Given the description of an element on the screen output the (x, y) to click on. 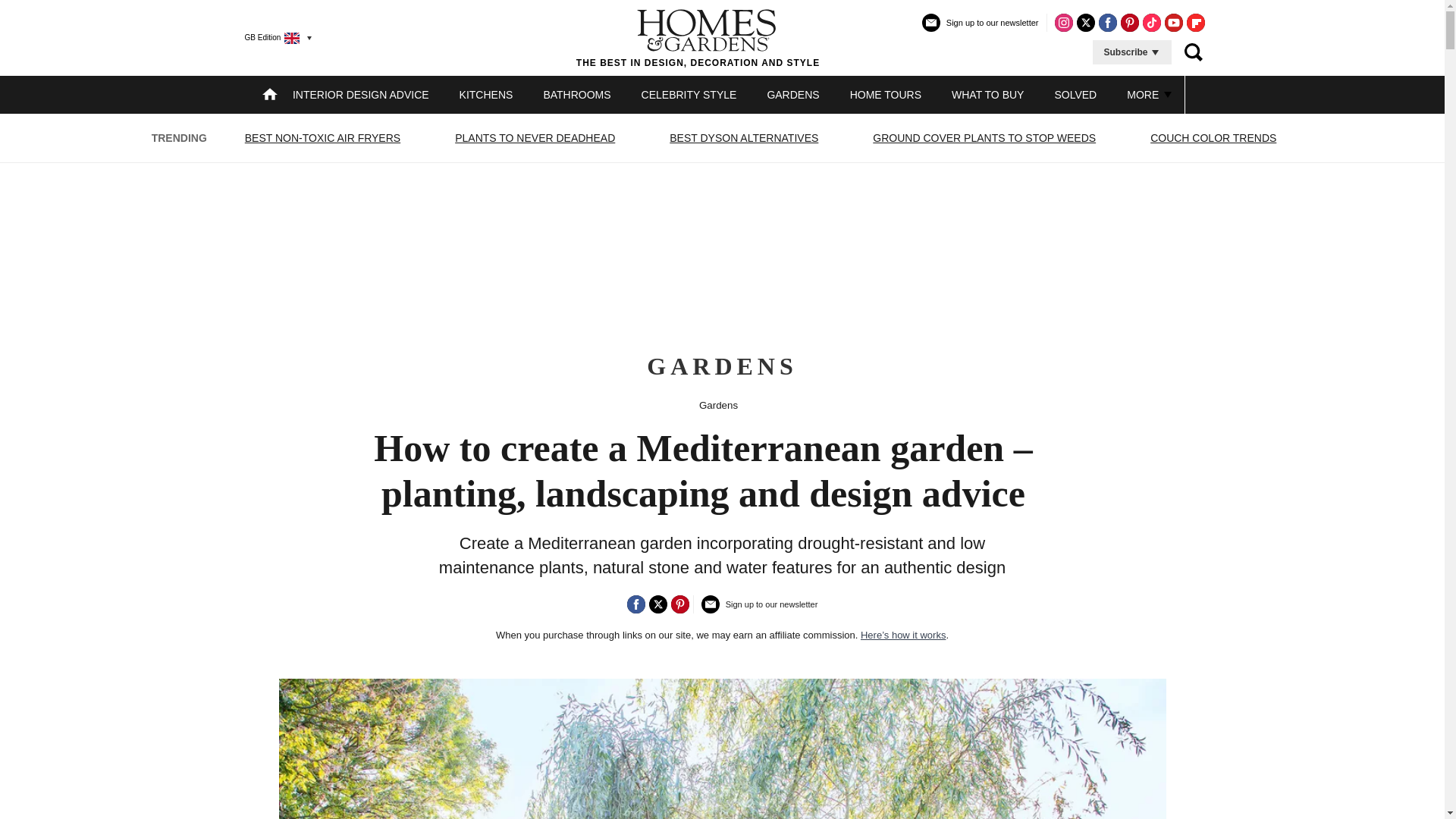
Gardens (718, 405)
Sign up to our newsletter (980, 28)
KITCHENS (486, 94)
GB Edition (271, 37)
COUCH COLOR TRENDS (1212, 137)
BEST DYSON ALTERNATIVES (743, 137)
WHAT TO BUY (987, 94)
PLANTS TO NEVER DEADHEAD (534, 137)
GARDENS (792, 94)
INTERIOR DESIGN ADVICE (360, 94)
BEST NON-TOXIC AIR FRYERS (323, 137)
SOLVED (1075, 94)
GROUND COVER PLANTS TO STOP WEEDS (983, 137)
CELEBRITY STYLE (689, 94)
BATHROOMS (576, 94)
